Given the description of an element on the screen output the (x, y) to click on. 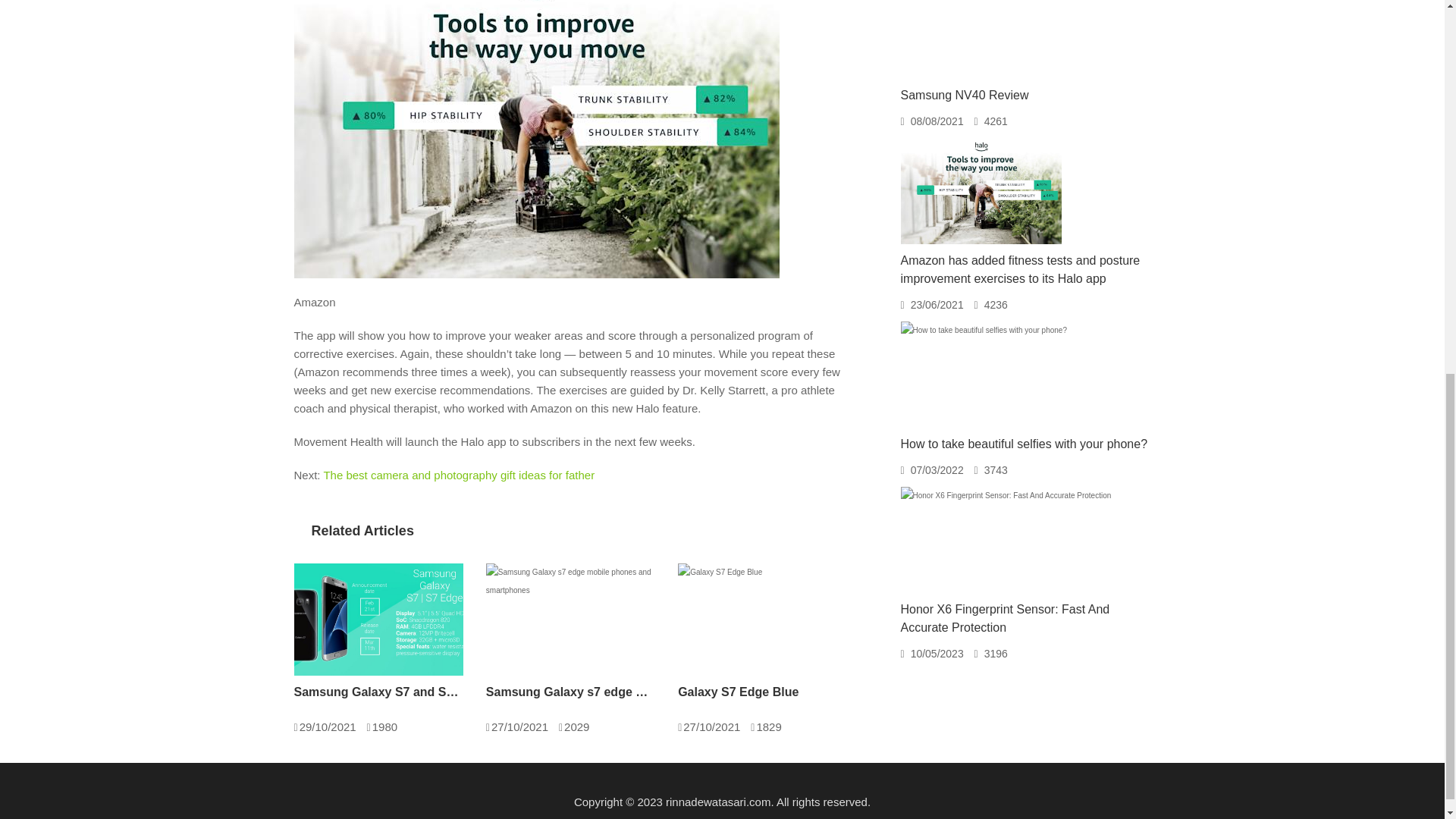
The best camera and photography gift ideas for father (458, 474)
Samsung Galaxy S7 and S7 edge specs (378, 692)
Honor X6 Fingerprint Sensor: Fast And Accurate Protection (1005, 617)
Samsung Galaxy S7 and S7 edge specs (378, 619)
Samsung Galaxy s7 edge mobile phones and smartphones (570, 692)
Samsung NV40 Review (965, 94)
The best camera and photography gift ideas for father (458, 474)
How to take beautiful selfies with your phone? (1024, 443)
Samsung Galaxy s7 edge mobile phones and smartphones (570, 619)
Galaxy S7 Edge Blue (762, 692)
Samsung Galaxy s7 edge mobile phones and smartphones (570, 692)
Samsung Galaxy S7 and S7 edge specs (378, 692)
Galaxy S7 Edge Blue (762, 692)
